Given the description of an element on the screen output the (x, y) to click on. 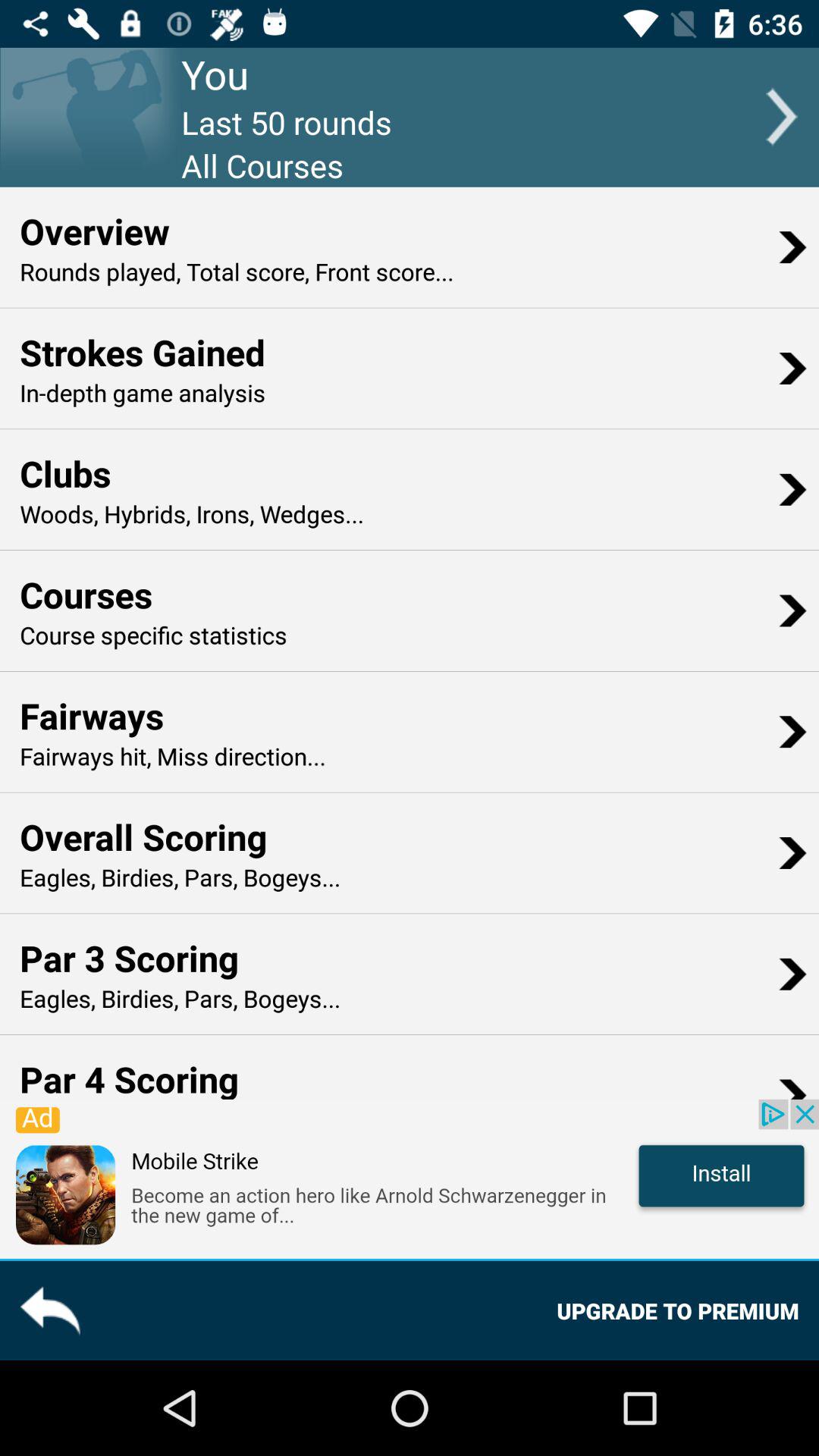
go to right strokes gained (792, 368)
